Given the description of an element on the screen output the (x, y) to click on. 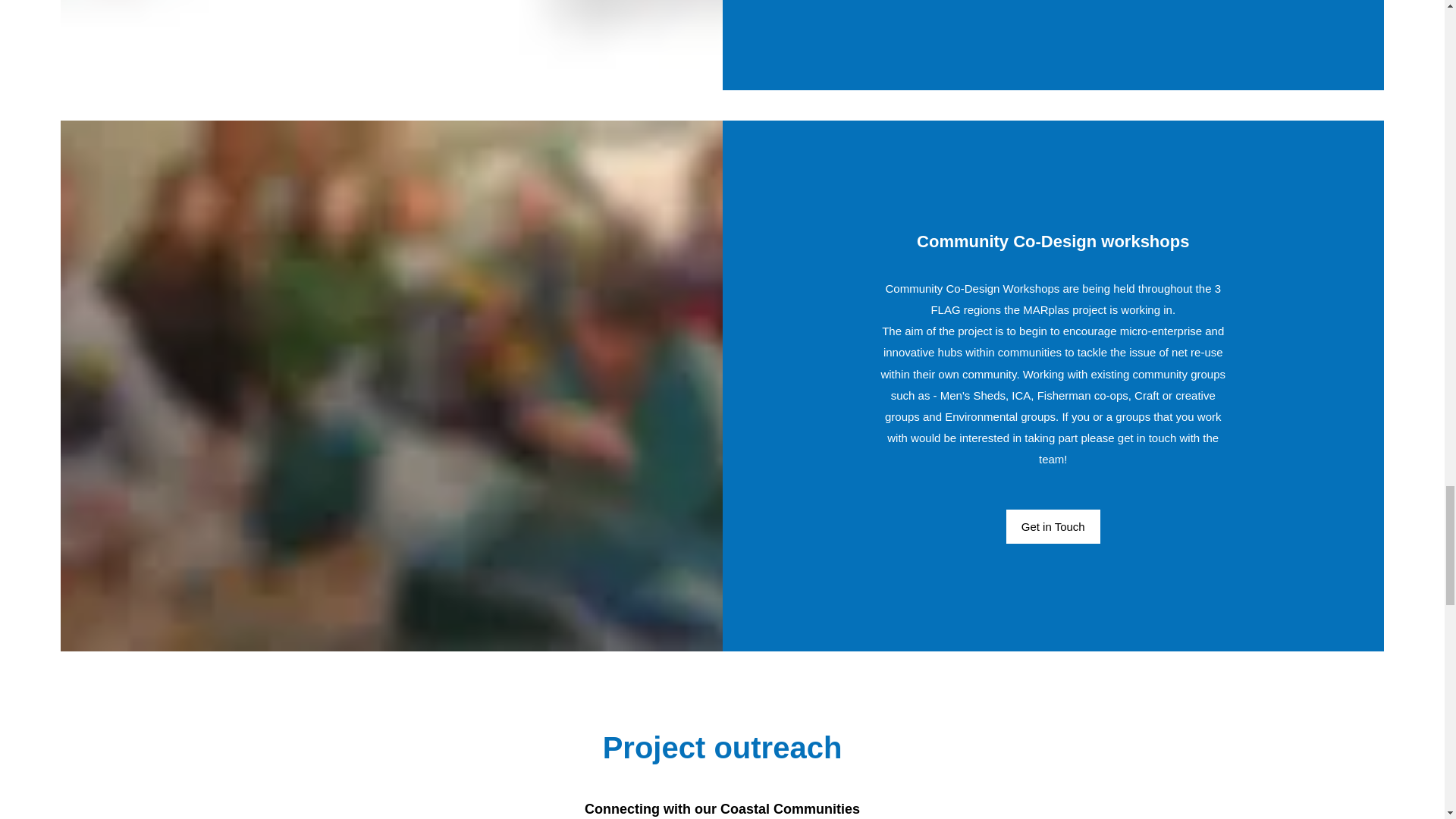
Get in Touch (1053, 526)
